Given the description of an element on the screen output the (x, y) to click on. 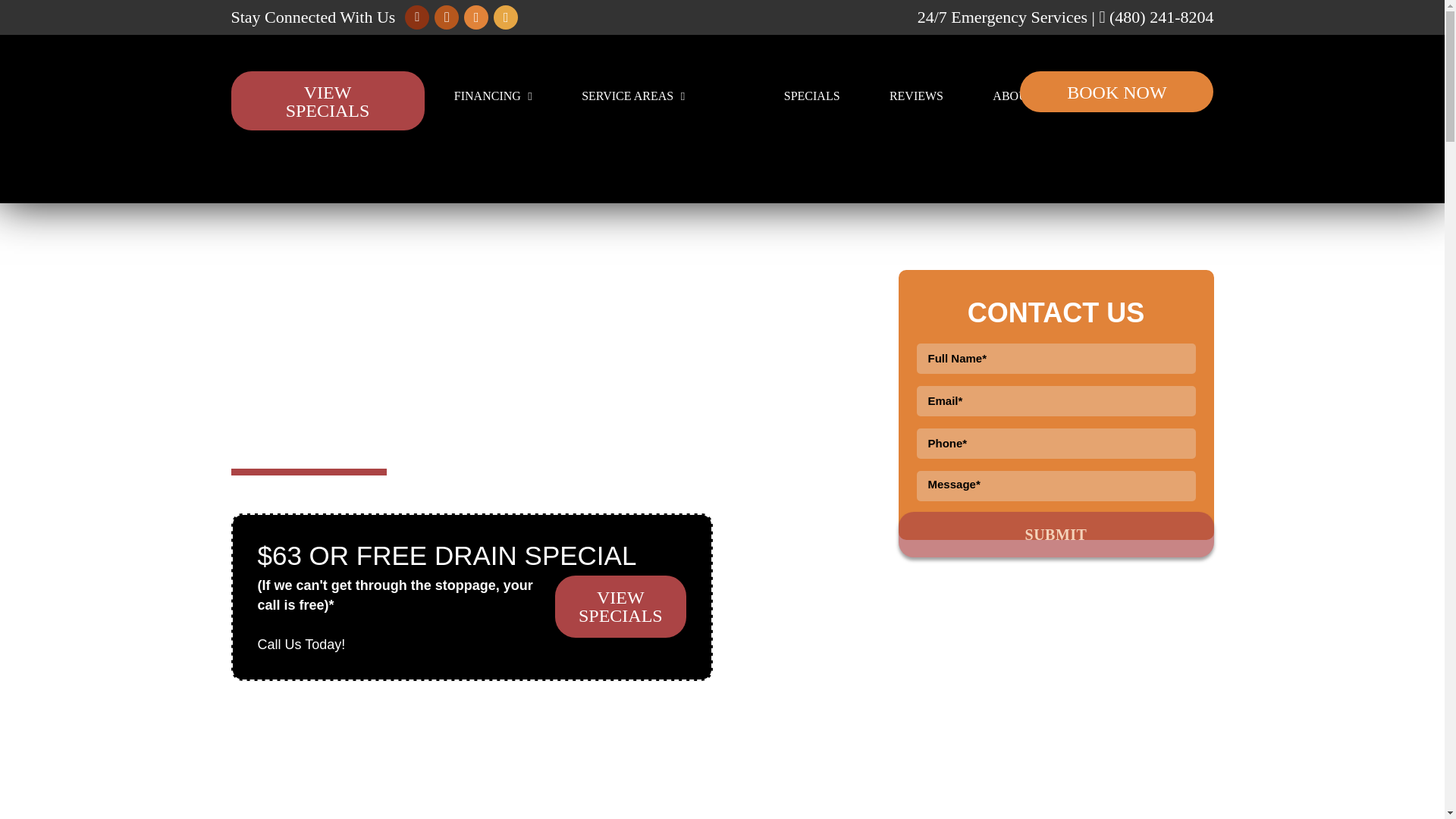
VIEW SPECIALS (326, 100)
HOME (262, 96)
Instagram (505, 16)
PLUMBING (367, 96)
SERVICE AREAS (632, 96)
Submit (1056, 534)
Facebook (445, 16)
Yelp (475, 16)
FINANCING (492, 96)
BOOK NOW (1116, 91)
Google (416, 16)
